Given the description of an element on the screen output the (x, y) to click on. 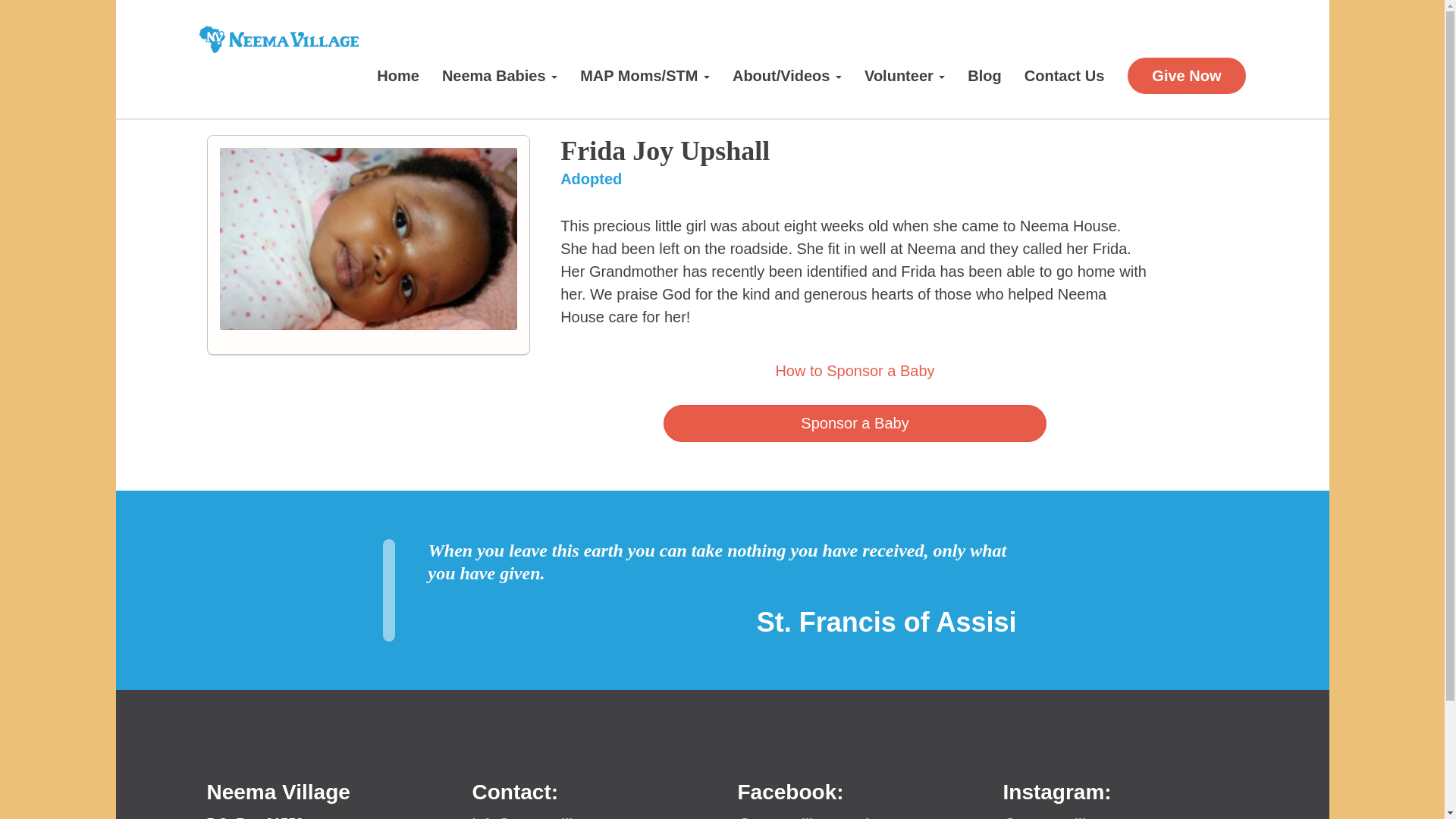
Home (397, 75)
How to Sponsor a Baby (854, 370)
Sponsor a Baby (854, 423)
Blog (983, 75)
Neema Village (277, 39)
Volunteer (904, 75)
Contact Us (1064, 75)
Home (397, 75)
Adopted (590, 178)
Neema Babies (499, 75)
